Given the description of an element on the screen output the (x, y) to click on. 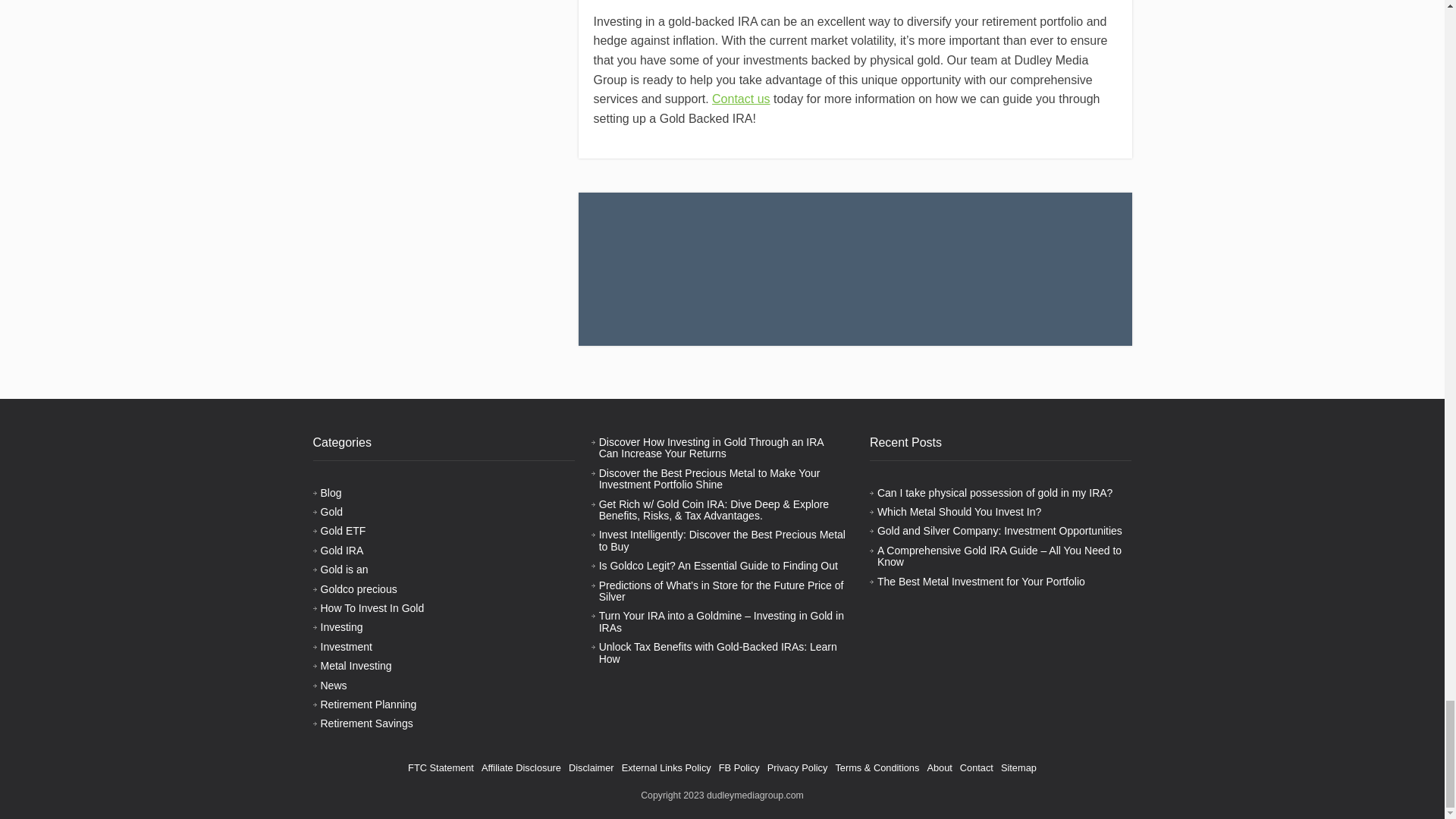
Blog (330, 492)
How To Invest In Gold (371, 607)
Gold ETF (342, 530)
Gold (331, 511)
Investing (341, 626)
Gold IRA (341, 550)
Gold is an (344, 569)
Contact us (740, 98)
Goldco precious (358, 589)
